Given the description of an element on the screen output the (x, y) to click on. 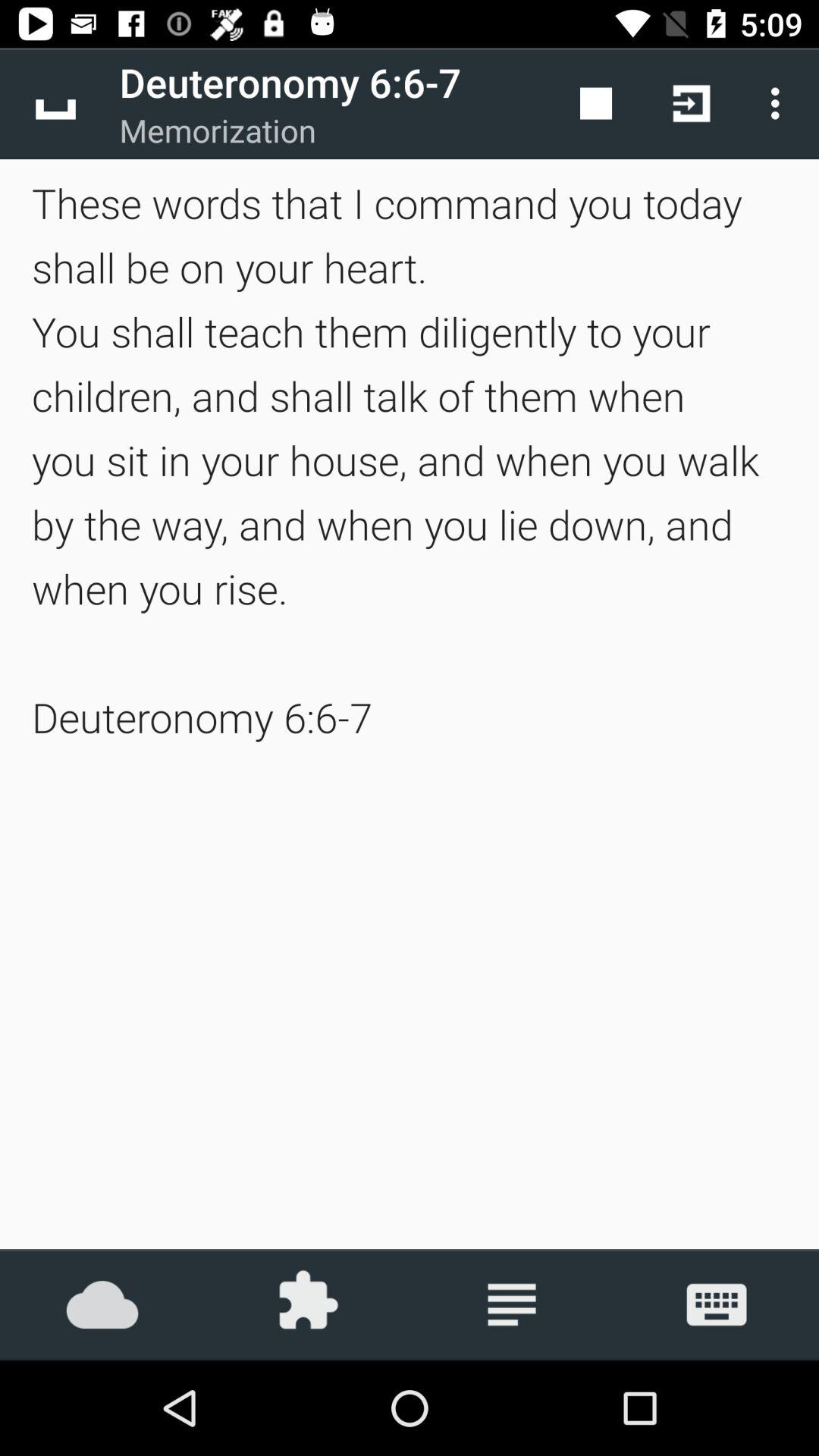
choose the item above these words that (55, 103)
